Given the description of an element on the screen output the (x, y) to click on. 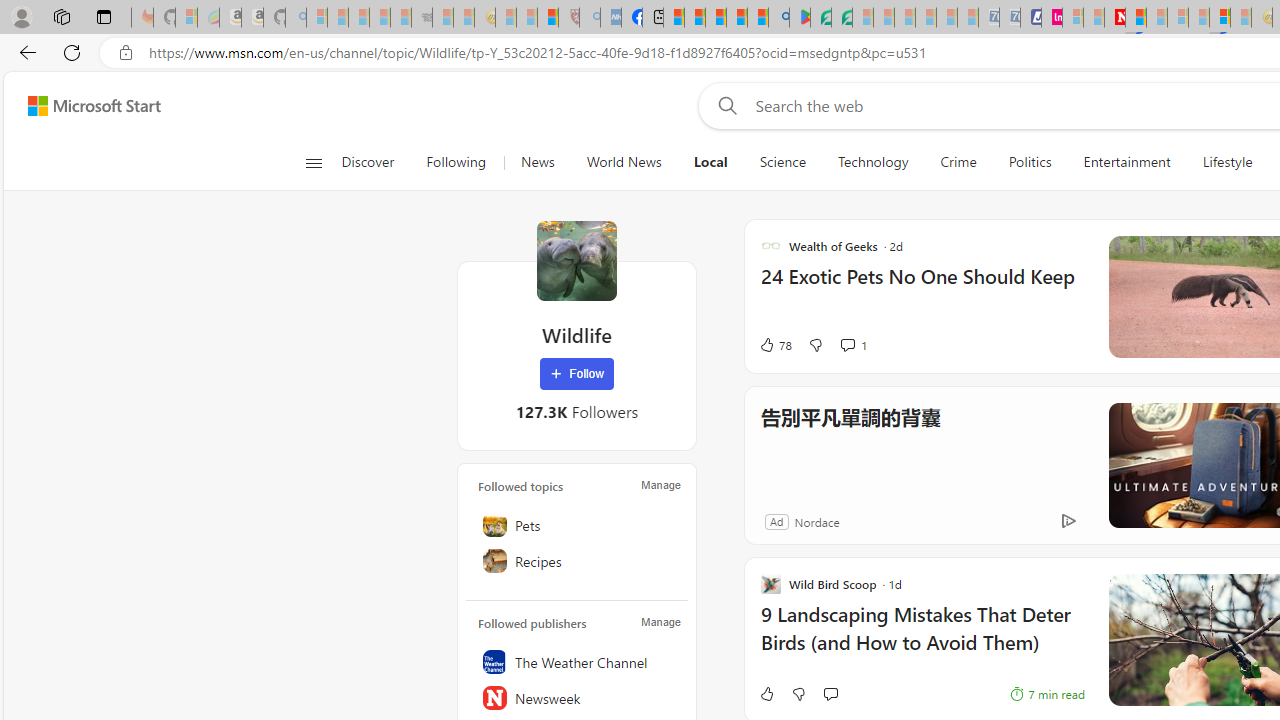
Offline games - Android Apps on Google Play (799, 17)
Microsoft Word - consumer-privacy address update 2.2021 (842, 17)
The Weather Channel (577, 661)
New Report Confirms 2023 Was Record Hot | Watch - Sleeping (400, 17)
Follow (577, 373)
View comments 1 Comment (847, 345)
